Given the description of an element on the screen output the (x, y) to click on. 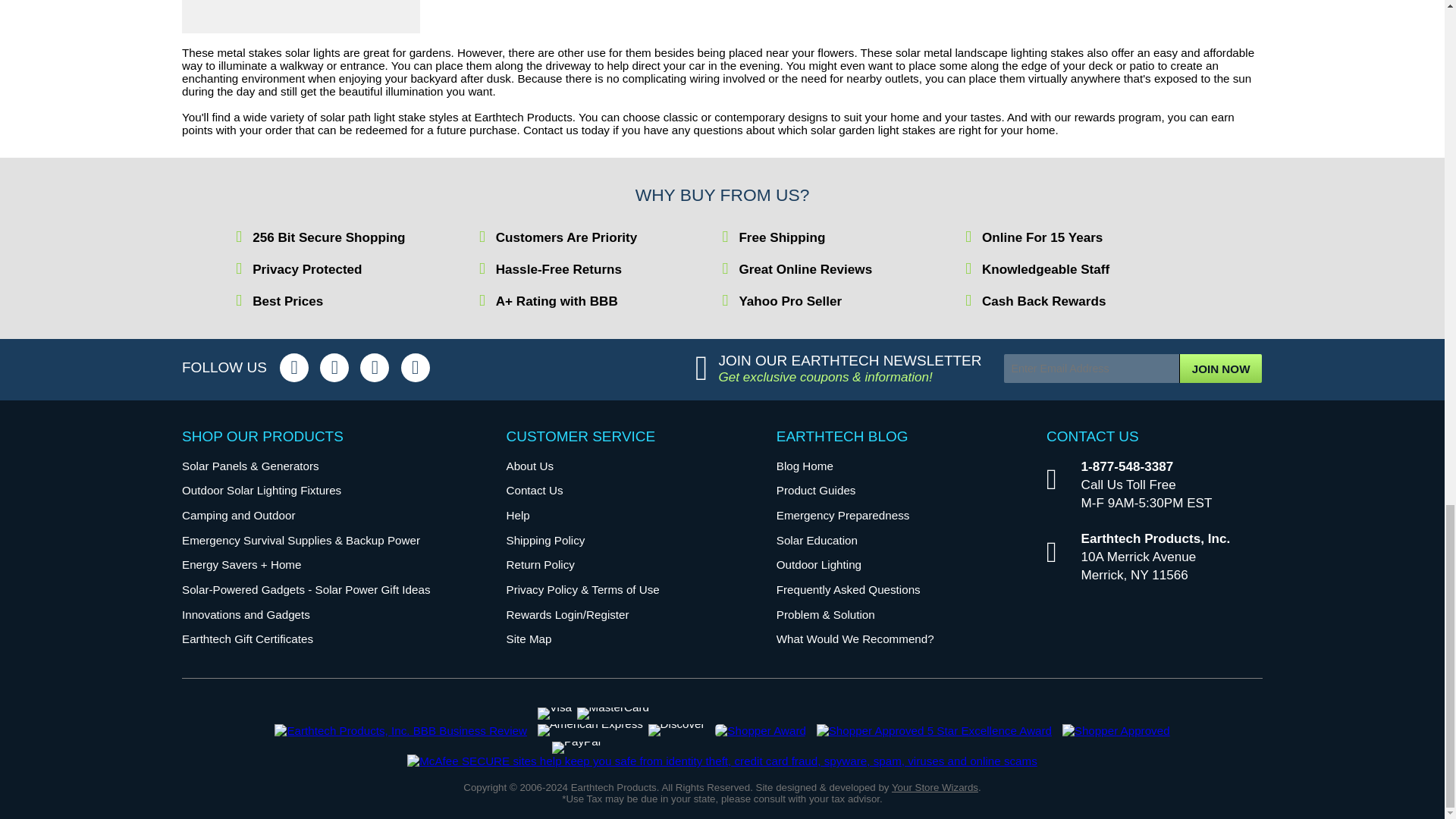
Earthtech Products, Inc. BBB Business Review (401, 730)
